Given the description of an element on the screen output the (x, y) to click on. 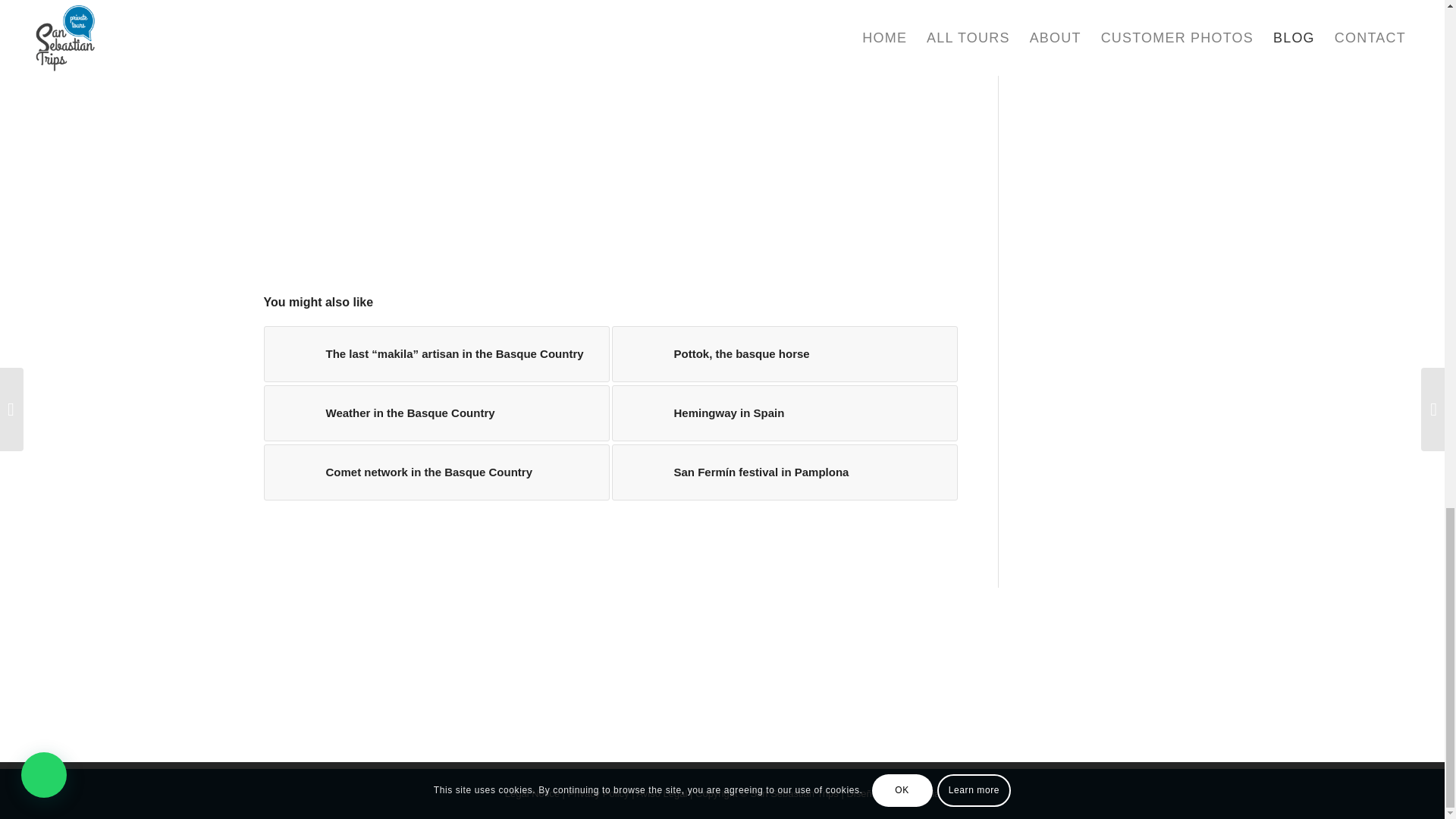
Comet network in the Basque Country (436, 472)
Hemingway (639, 412)
Hemingway in Spain (783, 412)
Pottok, the basque horse (783, 353)
Weather in the Basque Country (436, 412)
Horses in the basque mountains (290, 412)
Pottok, the basque horse (783, 353)
Weather in the Basque Country (436, 412)
trip-advisor-2019-certificate-of-excellence (721, 678)
Comet network in the Basque Country (436, 472)
Basque horse (639, 353)
San Fermin (639, 472)
makilas (290, 353)
Hemingway in Spain (783, 412)
